Given the description of an element on the screen output the (x, y) to click on. 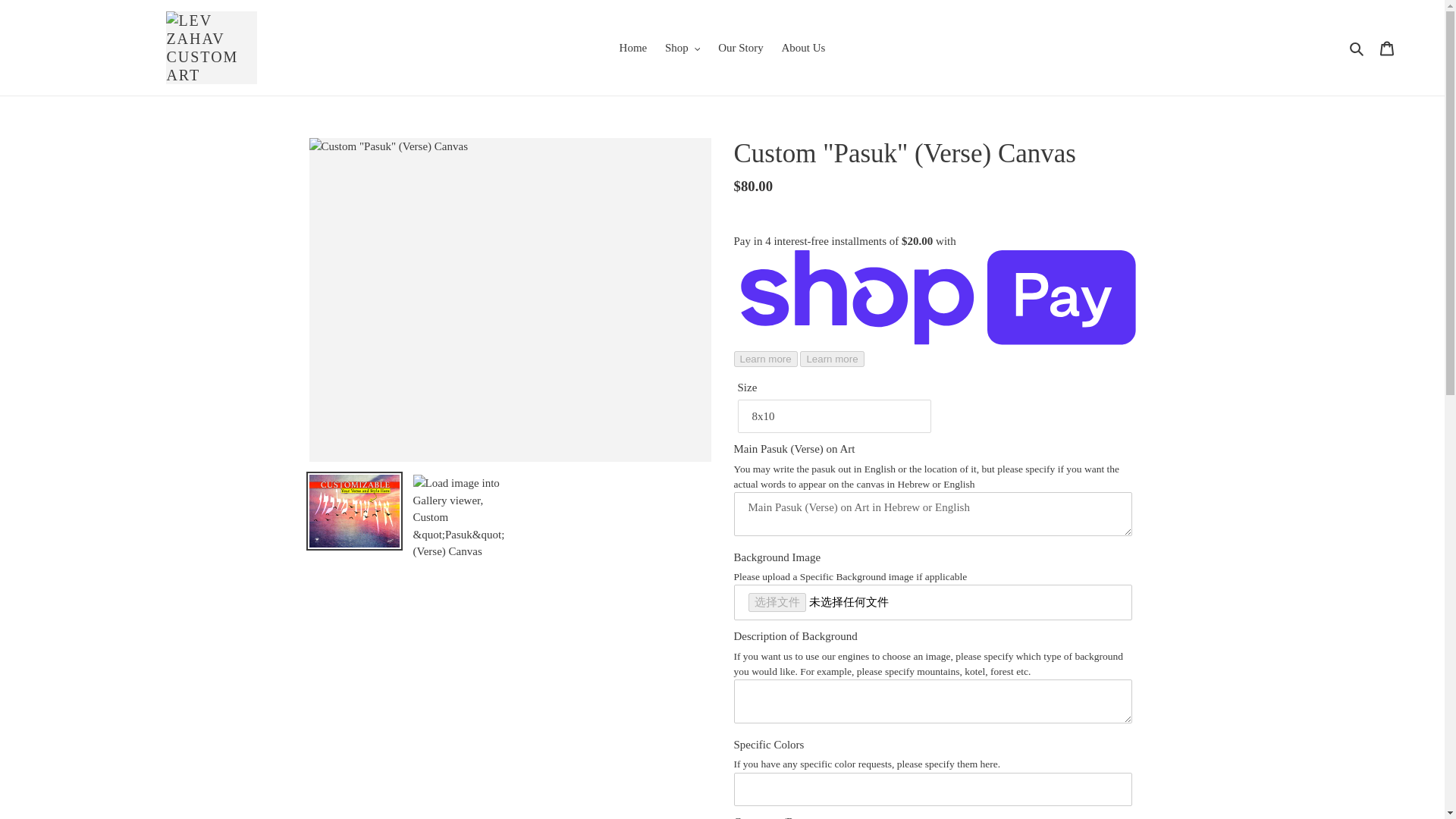
Search (1357, 47)
About Us (802, 47)
Home (633, 47)
Shop (682, 47)
Our Story (740, 47)
Cart (1387, 47)
